Given the description of an element on the screen output the (x, y) to click on. 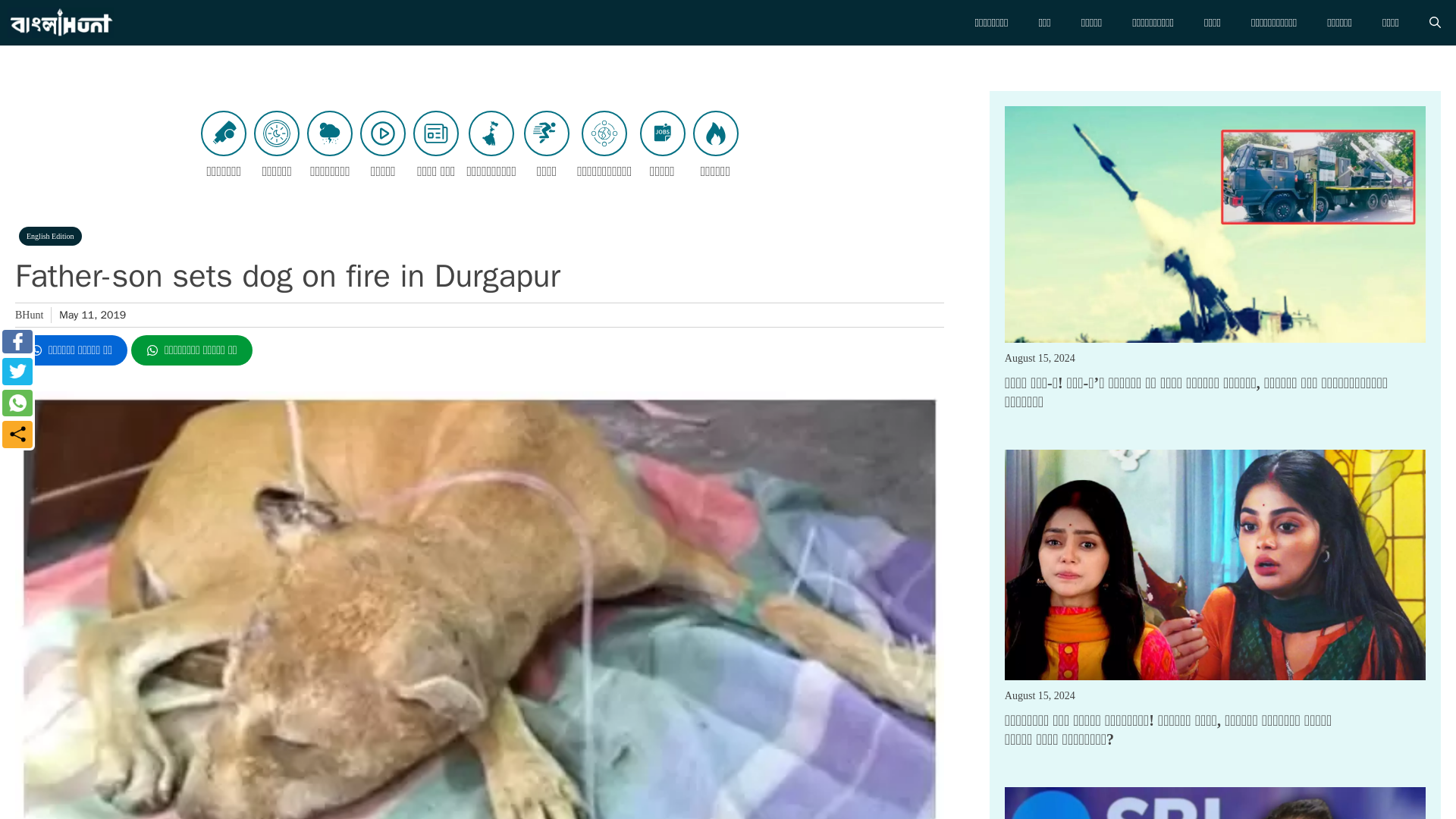
Bangla Hunt (60, 22)
BHunt (28, 315)
English Edition (49, 235)
